Given the description of an element on the screen output the (x, y) to click on. 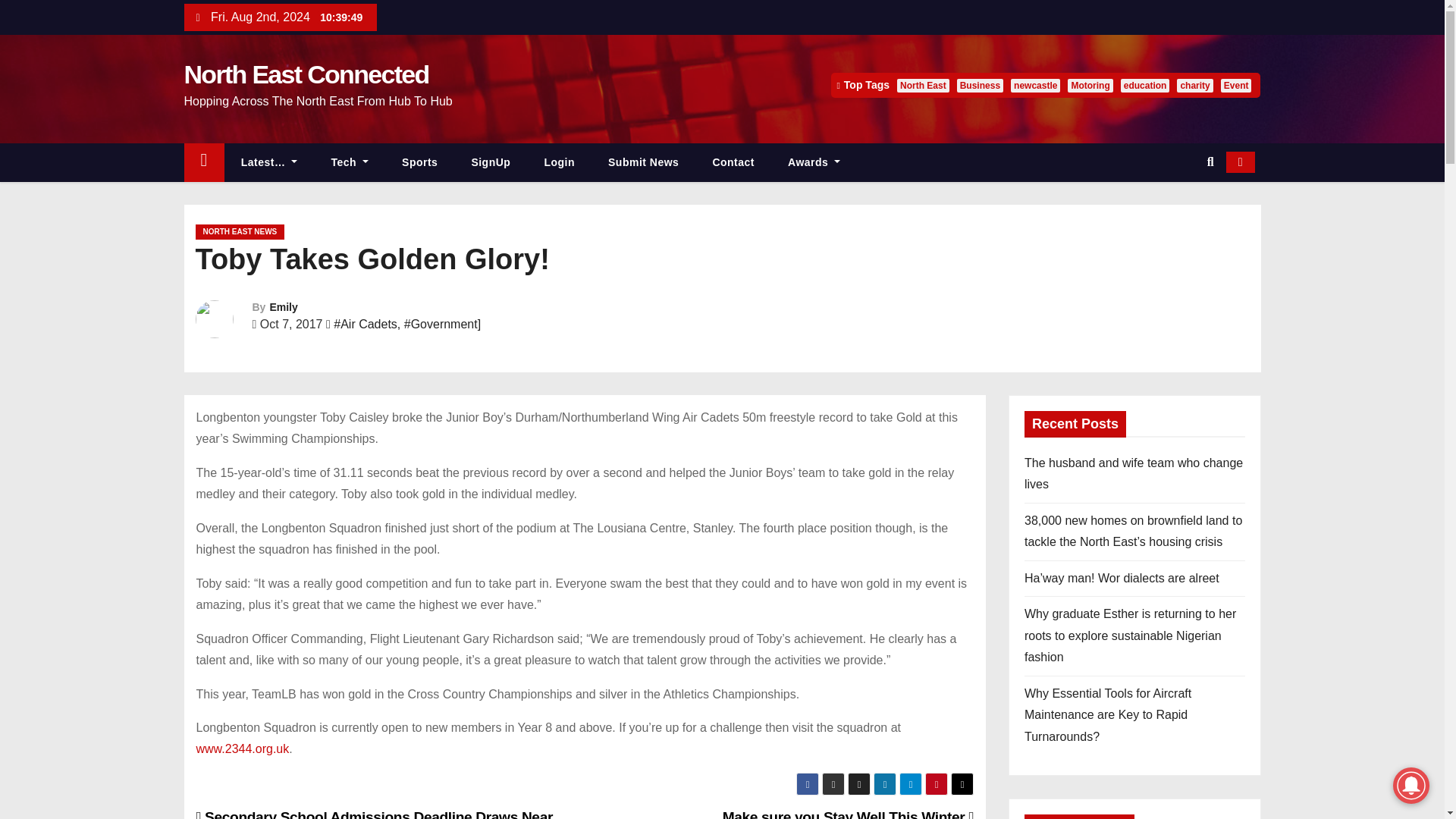
North East (922, 85)
Awards (814, 162)
Sports (419, 162)
NORTH EAST NEWS (240, 231)
Tech (349, 162)
Home (203, 162)
newcastle (1034, 85)
Submit News (643, 162)
Tech (349, 162)
Contact (733, 162)
Emily (283, 306)
North East Connected (305, 73)
SignUp (490, 162)
education (1145, 85)
Sports (419, 162)
